Given the description of an element on the screen output the (x, y) to click on. 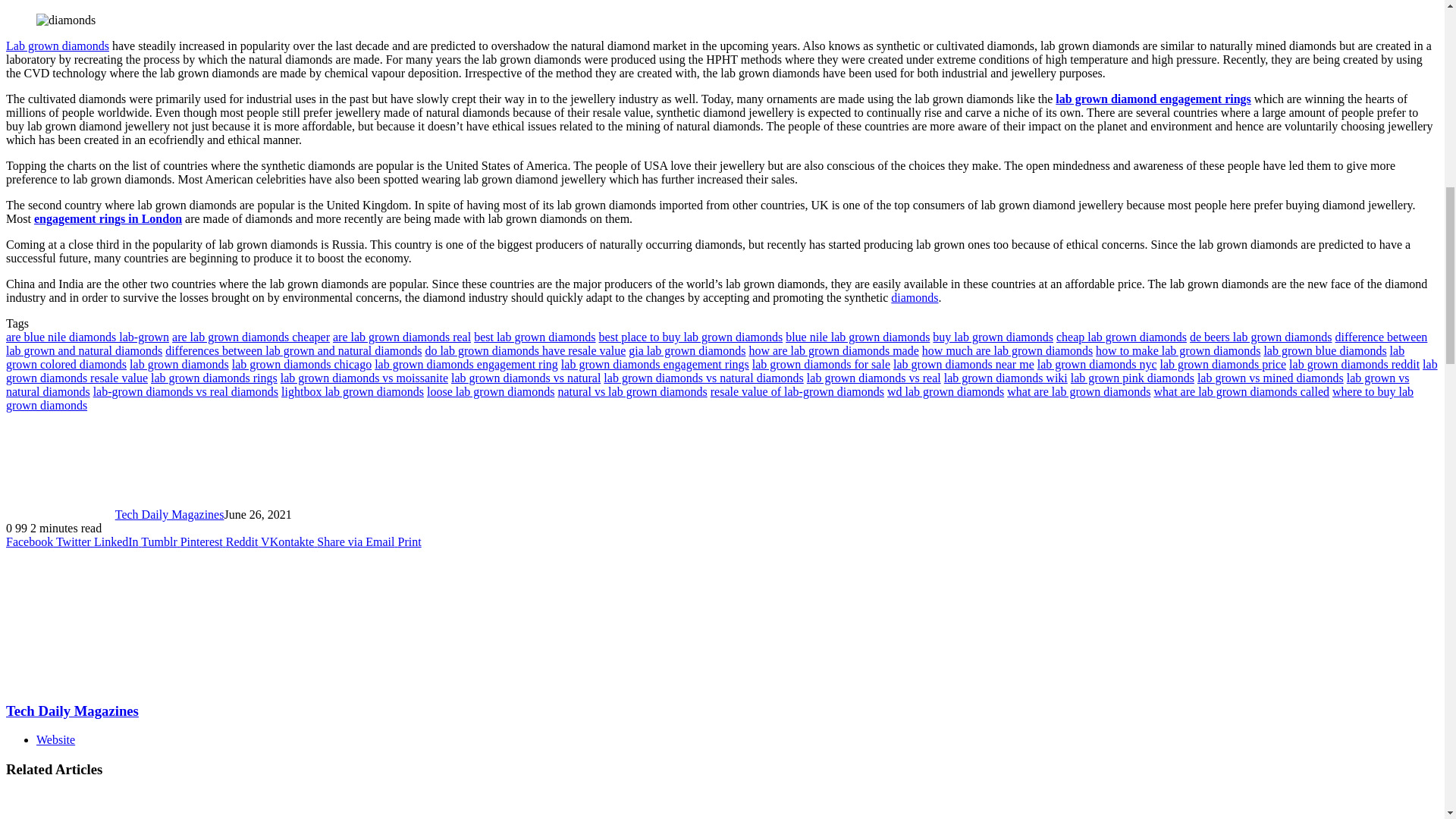
Lab grown diamonds (57, 45)
Pinterest (202, 541)
Reddit (242, 541)
VKontakte (288, 541)
lab grown diamond engagement rings (1152, 98)
Twitter (75, 541)
diamonds (914, 297)
best lab grown diamonds (534, 336)
Print (408, 541)
LinkedIn (117, 541)
are blue nile diamonds lab-grown (86, 336)
Share via Email (357, 541)
Facebook (30, 541)
Tech Daily Magazines (169, 513)
are lab grown diamonds real (401, 336)
